Given the description of an element on the screen output the (x, y) to click on. 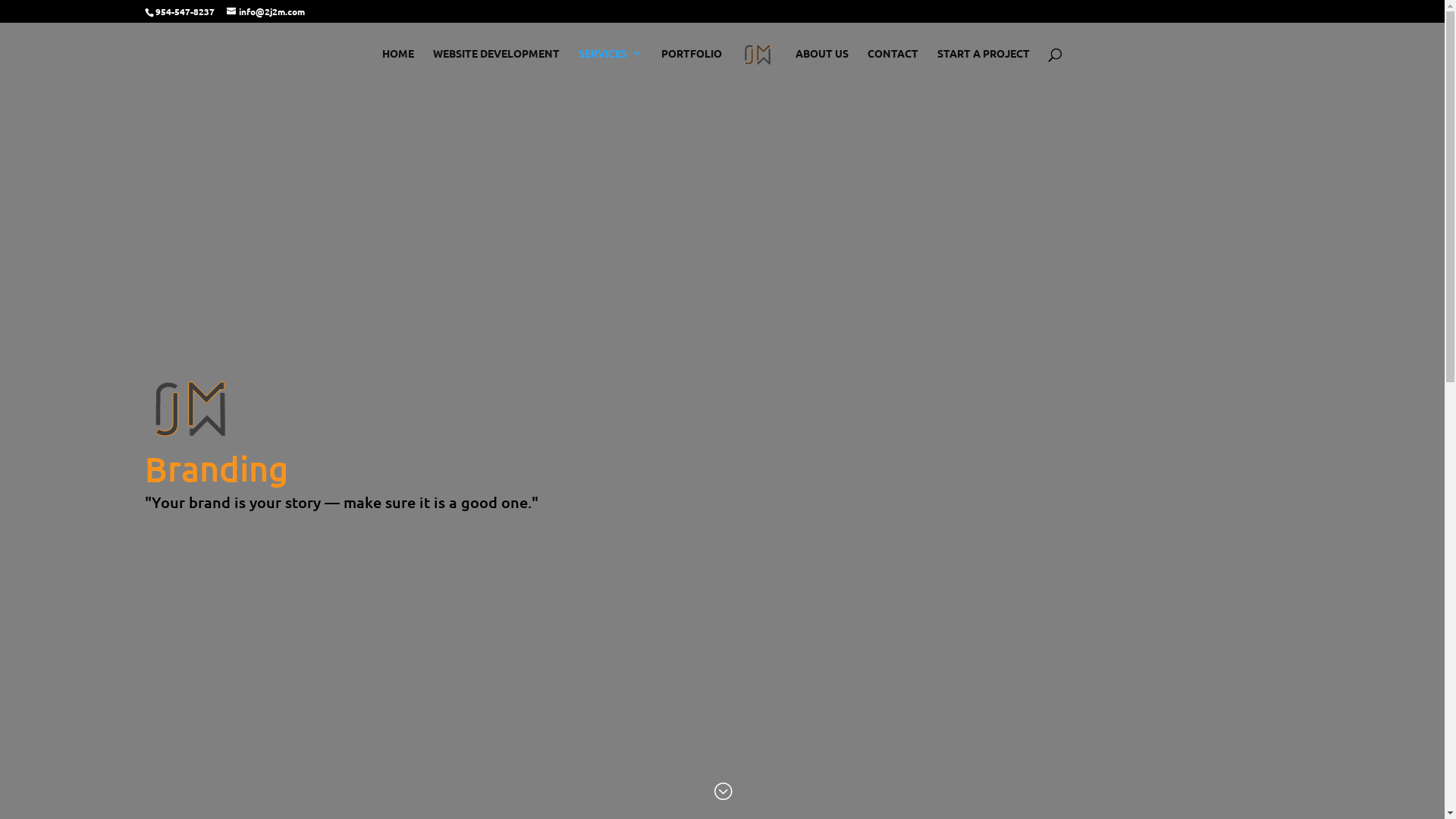
ABOUT US Element type: text (821, 65)
CONTACT Element type: text (892, 65)
START A PROJECT Element type: text (983, 65)
; Element type: text (722, 792)
PORTFOLIO Element type: text (691, 65)
WEBSITE DEVELOPMENT Element type: text (496, 65)
HOME Element type: text (398, 65)
info@2j2m.com Element type: text (264, 11)
SERVICES Element type: text (610, 65)
